Given the description of an element on the screen output the (x, y) to click on. 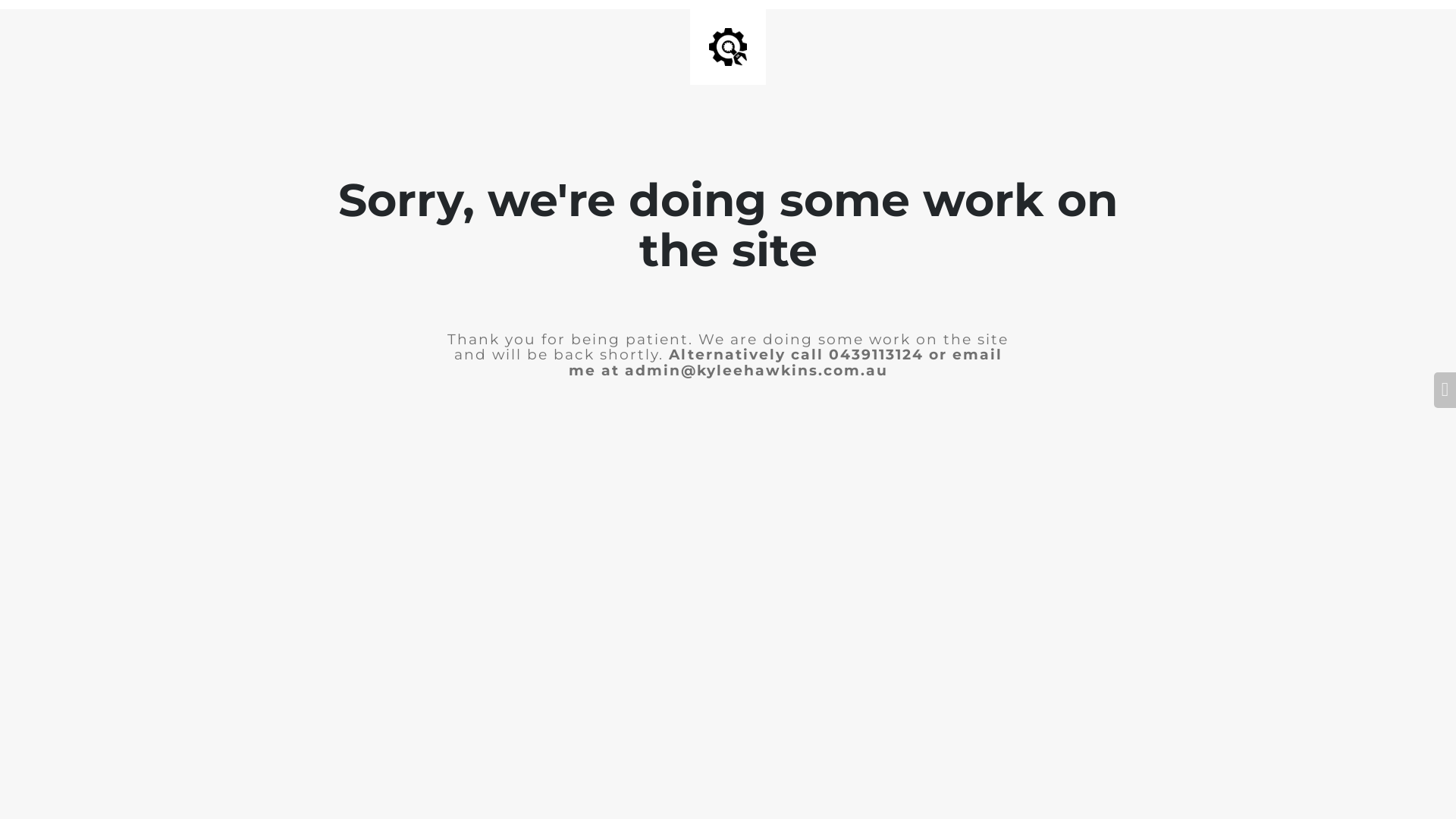
Site is Under Construction Element type: hover (727, 46)
